Given the description of an element on the screen output the (x, y) to click on. 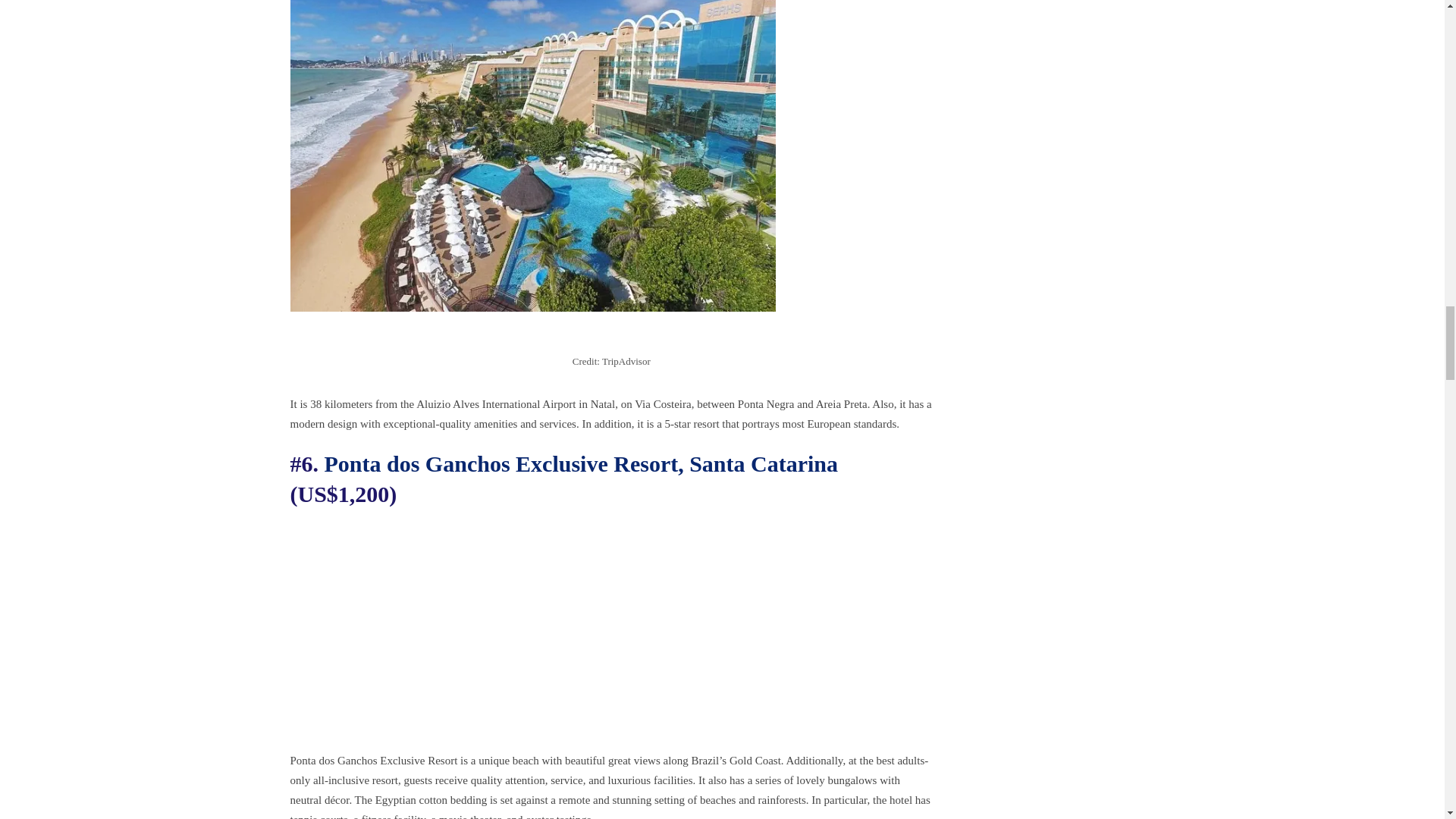
Ponta dos Ganchos Exclusive Resort, Santa Catarina (581, 463)
